Given the description of an element on the screen output the (x, y) to click on. 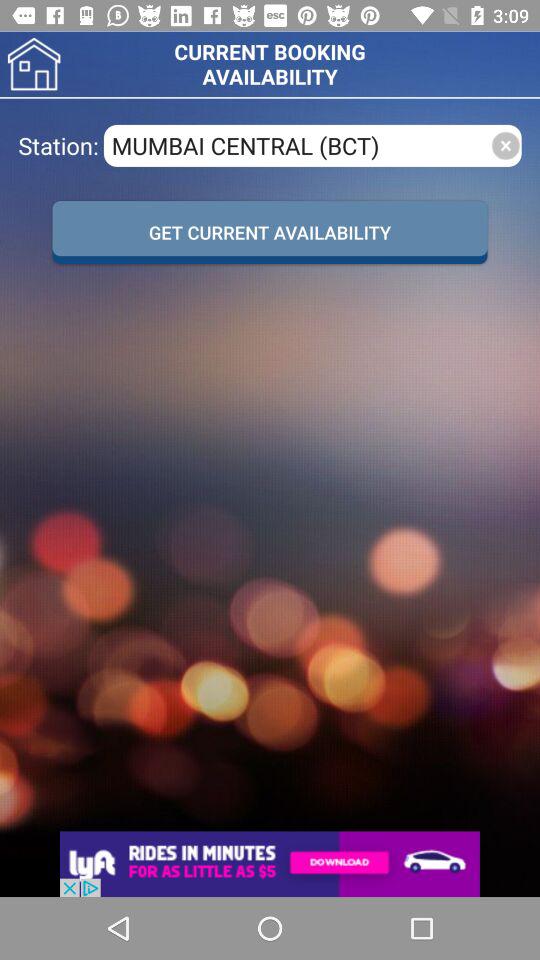
home page the article (33, 63)
